Given the description of an element on the screen output the (x, y) to click on. 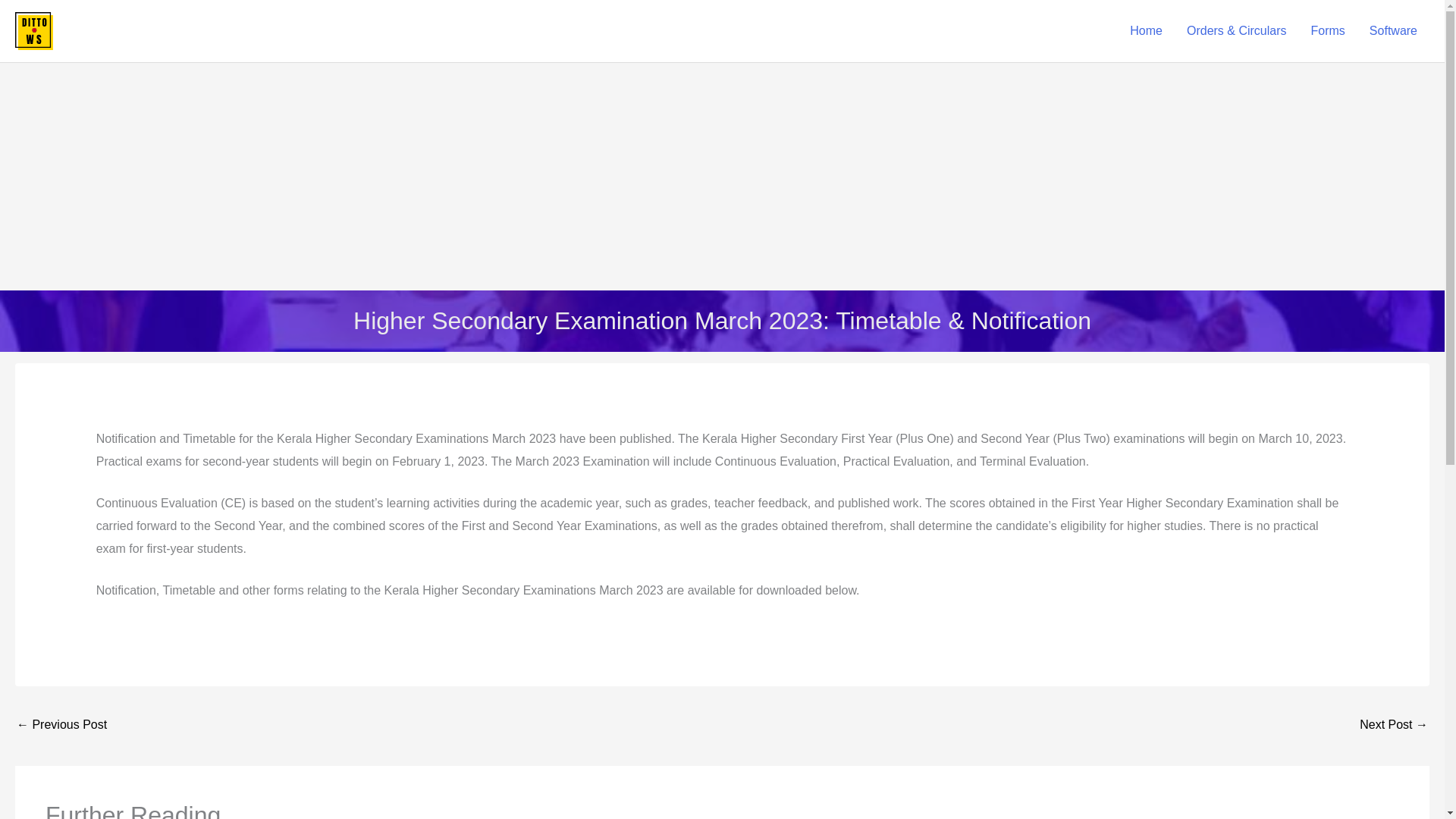
Software (1392, 30)
Forms (1327, 30)
Home (1146, 30)
